Given the description of an element on the screen output the (x, y) to click on. 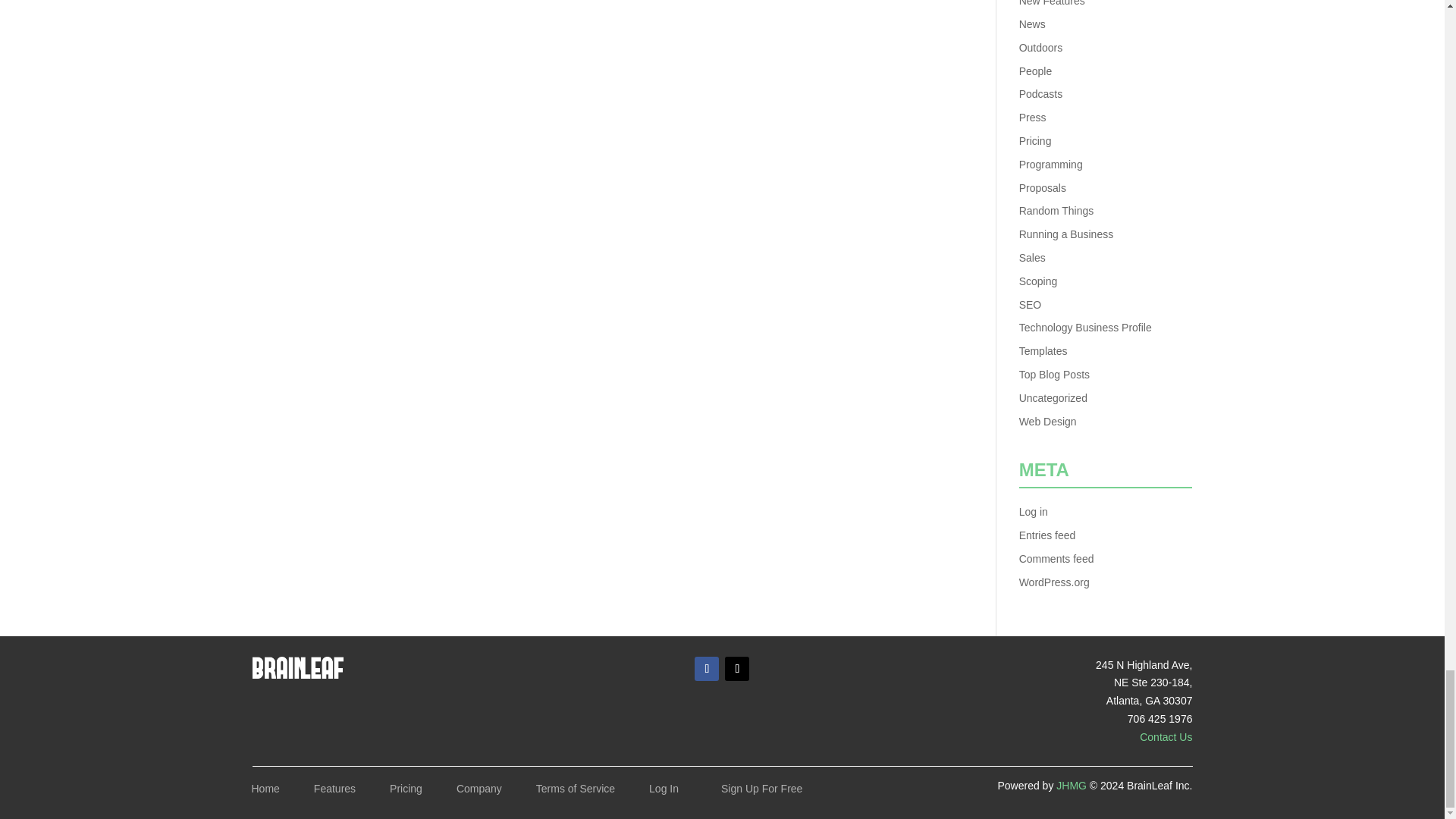
Follow on X (737, 668)
Follow on Facebook (706, 668)
logo-login (296, 667)
